Given the description of an element on the screen output the (x, y) to click on. 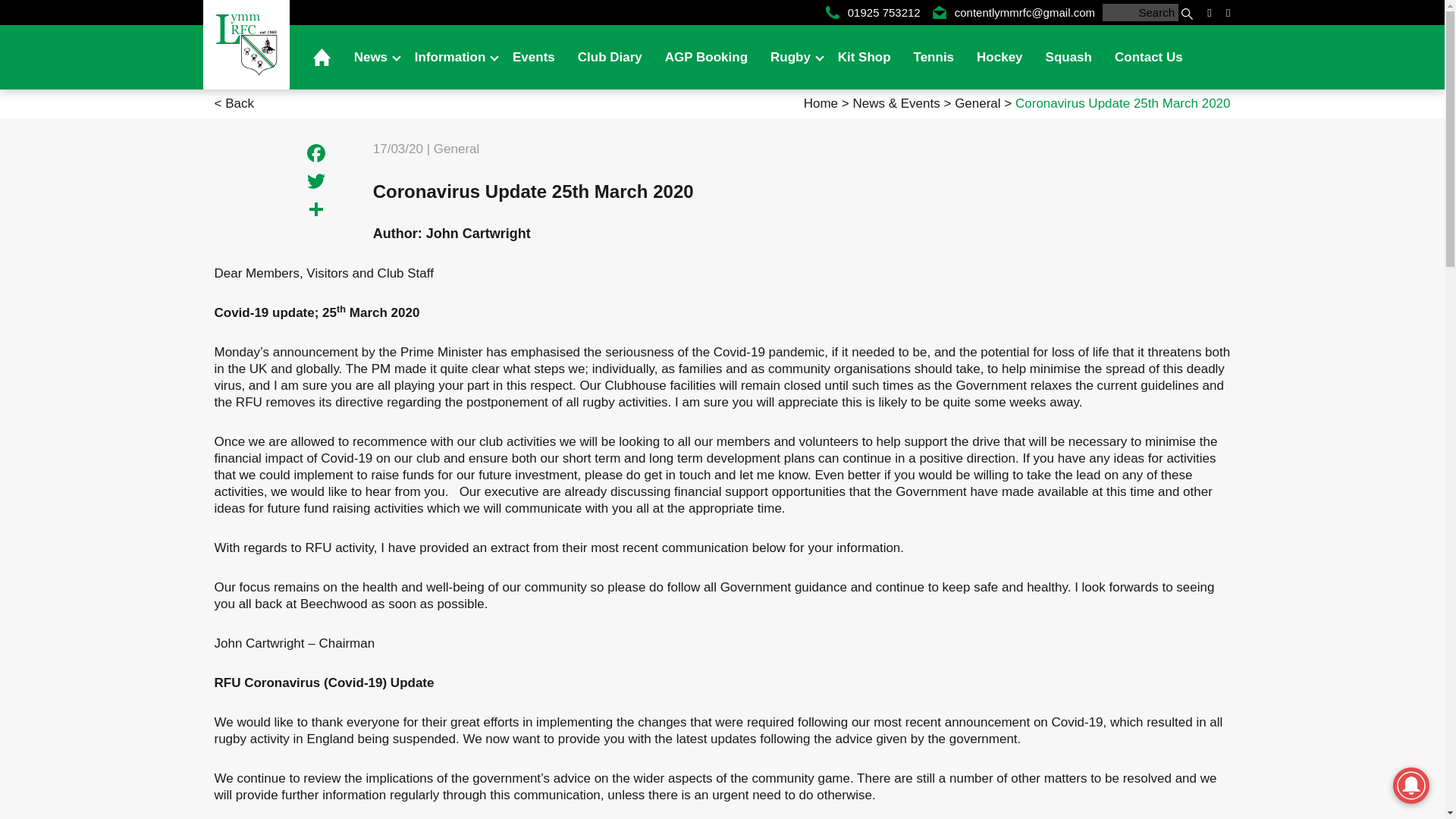
Rugby (792, 57)
Club Diary (609, 57)
News (372, 57)
Go to Lymm RFC. (822, 103)
Information (451, 57)
Facebook (316, 154)
Events (533, 57)
Twitter (316, 182)
AGP Booking (705, 57)
01925 753212 (872, 11)
